Given the description of an element on the screen output the (x, y) to click on. 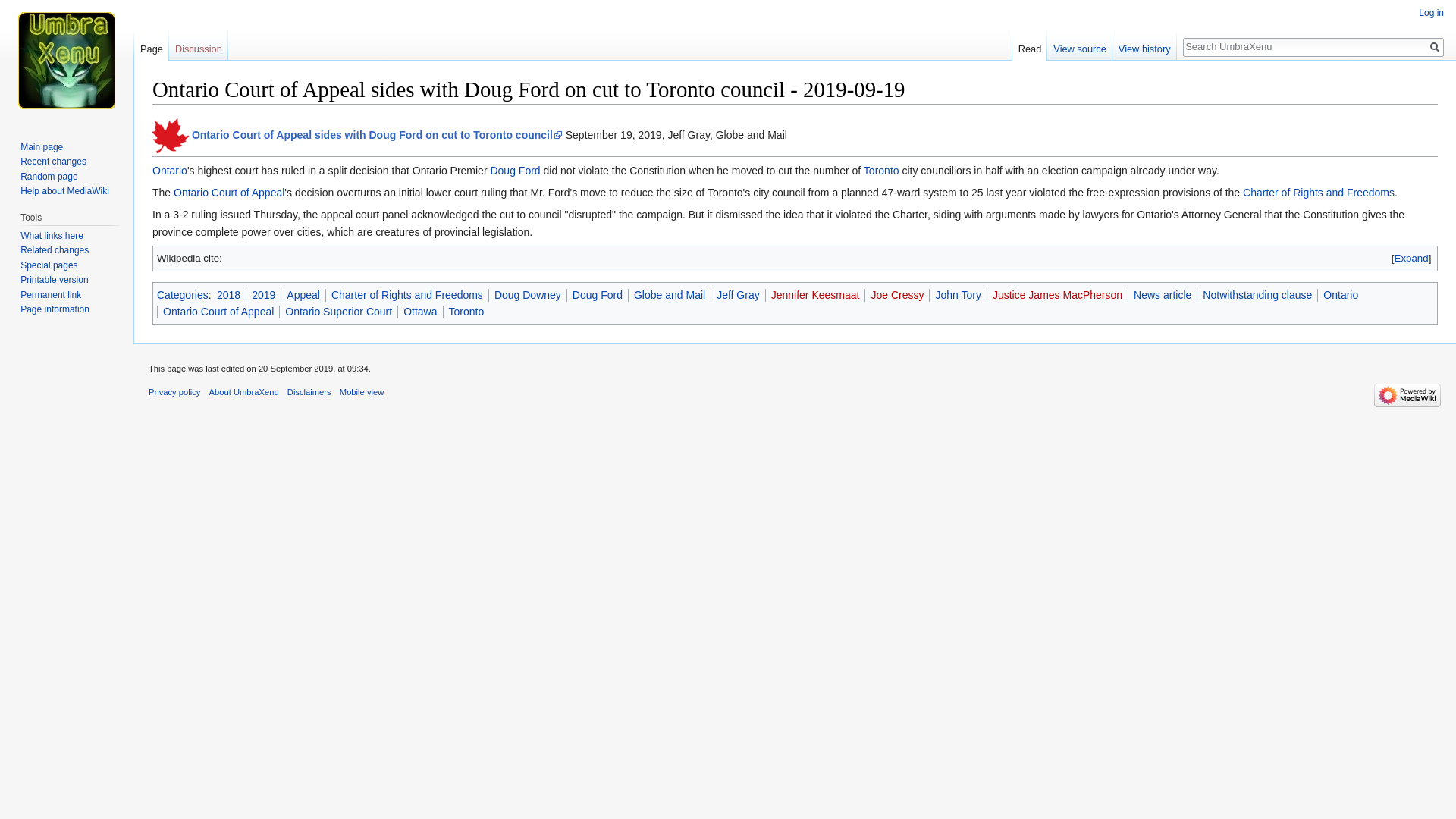
Ontario Court of Appeal (218, 311)
Charter of Rights and Freedoms (407, 294)
Category:Charter of Rights and Freedoms (1318, 192)
Category:Ontario Court of Appeal (228, 192)
2019 (263, 294)
Justice James MacPherson (1057, 294)
Ontario Court of Appeal (228, 192)
Log in (1431, 12)
Category:Ontario (169, 170)
Special:Categories (182, 294)
Ontario Superior Court (338, 311)
John Tory (956, 294)
Category:2019 (263, 294)
Category:Doug Ford (597, 294)
View source (1079, 45)
